Given the description of an element on the screen output the (x, y) to click on. 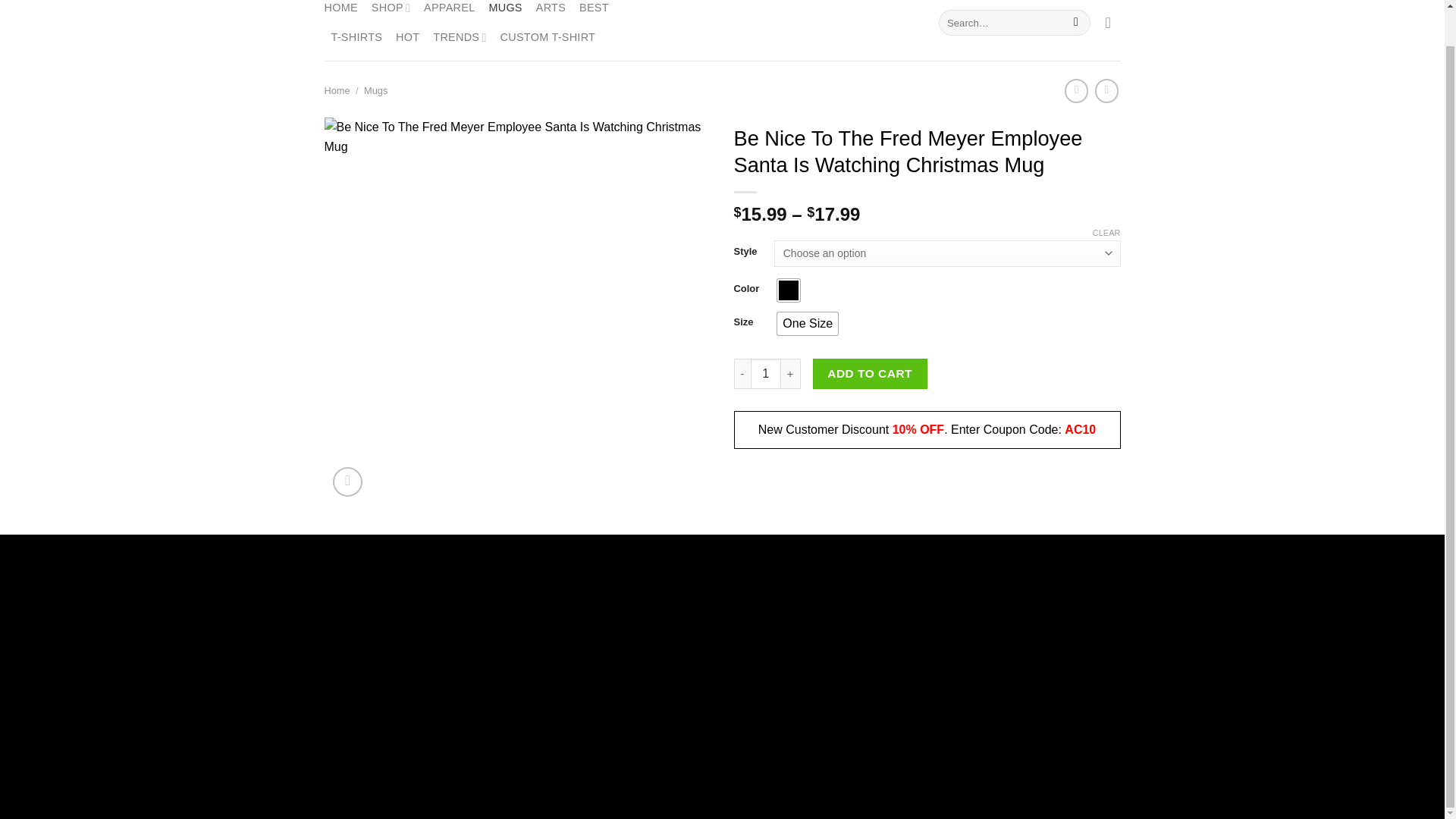
HOME (341, 10)
1 (765, 373)
SHOP (390, 11)
Alberto Cerriteno - T-Shirts, Hoodies, Mugs, Arts (721, 28)
